Given the description of an element on the screen output the (x, y) to click on. 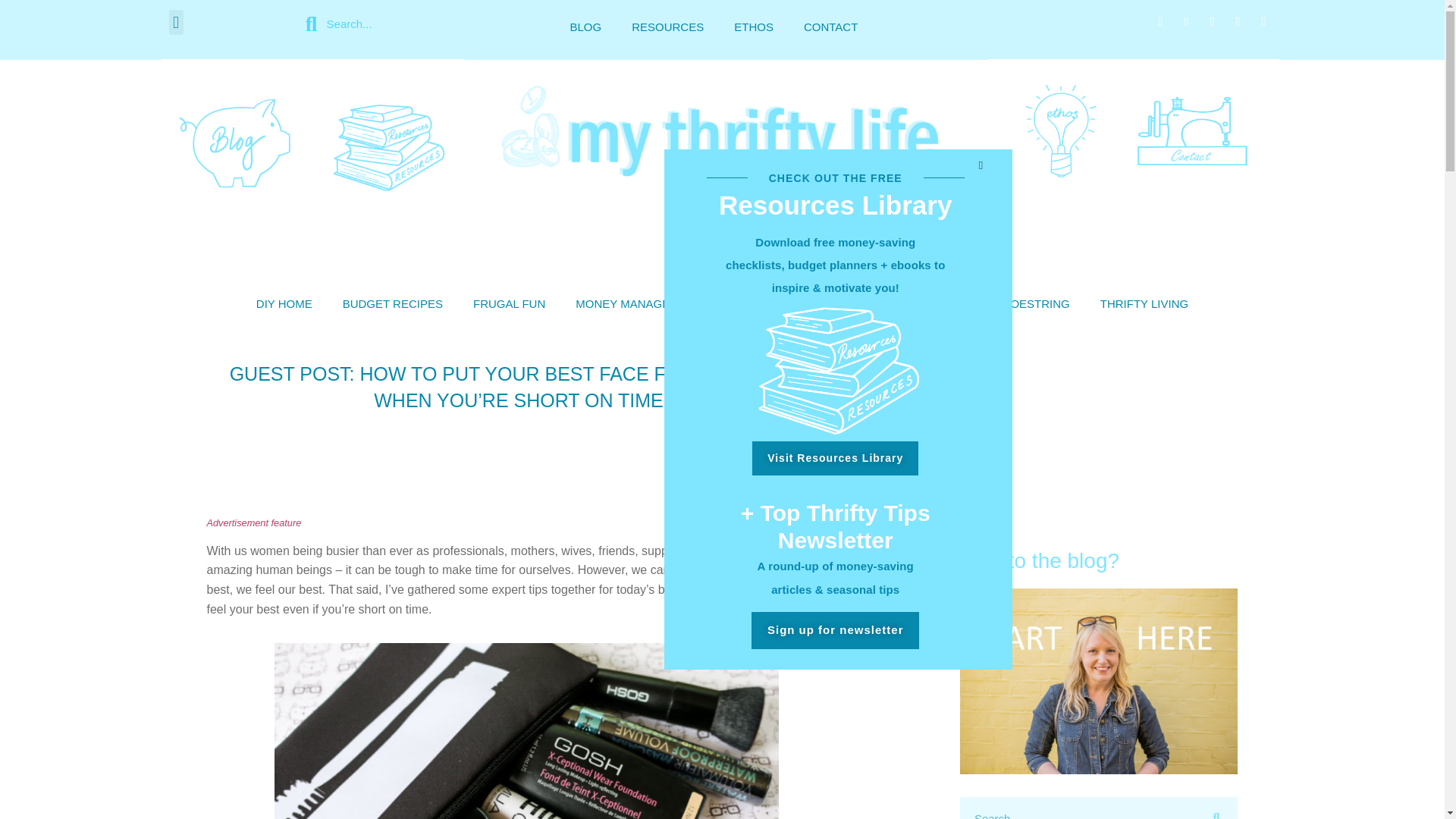
BLOG (585, 27)
RESOURCES (667, 27)
ETHOS (754, 27)
CONTACT (830, 27)
